Given the description of an element on the screen output the (x, y) to click on. 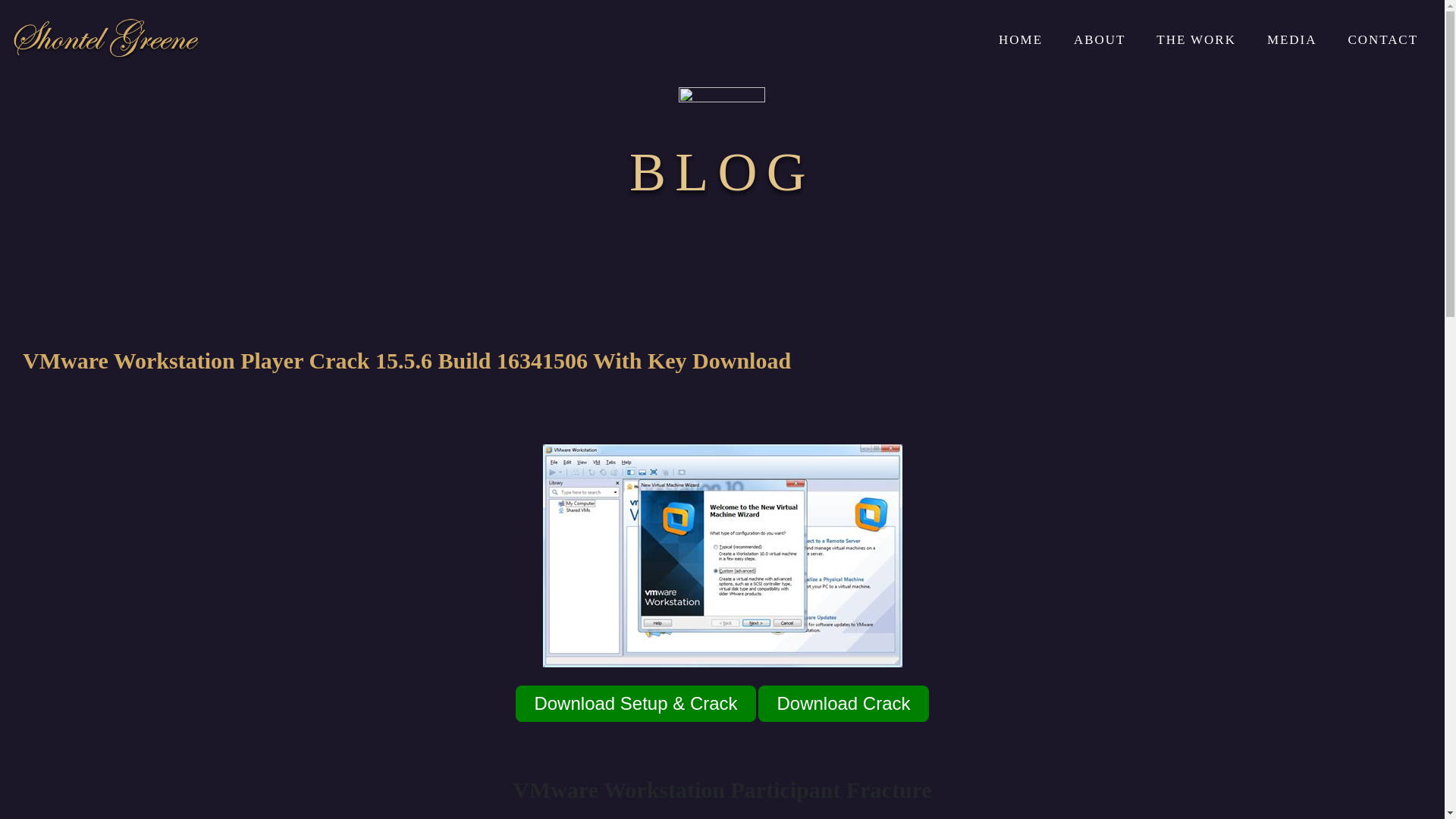
THE WORK (1195, 39)
MEDIA (1292, 39)
ABOUT (1099, 39)
CONTACT (1382, 39)
Download Crack (843, 703)
HOME (1021, 39)
Shontel Greene - Baltimore's Empress (105, 39)
